Given the description of an element on the screen output the (x, y) to click on. 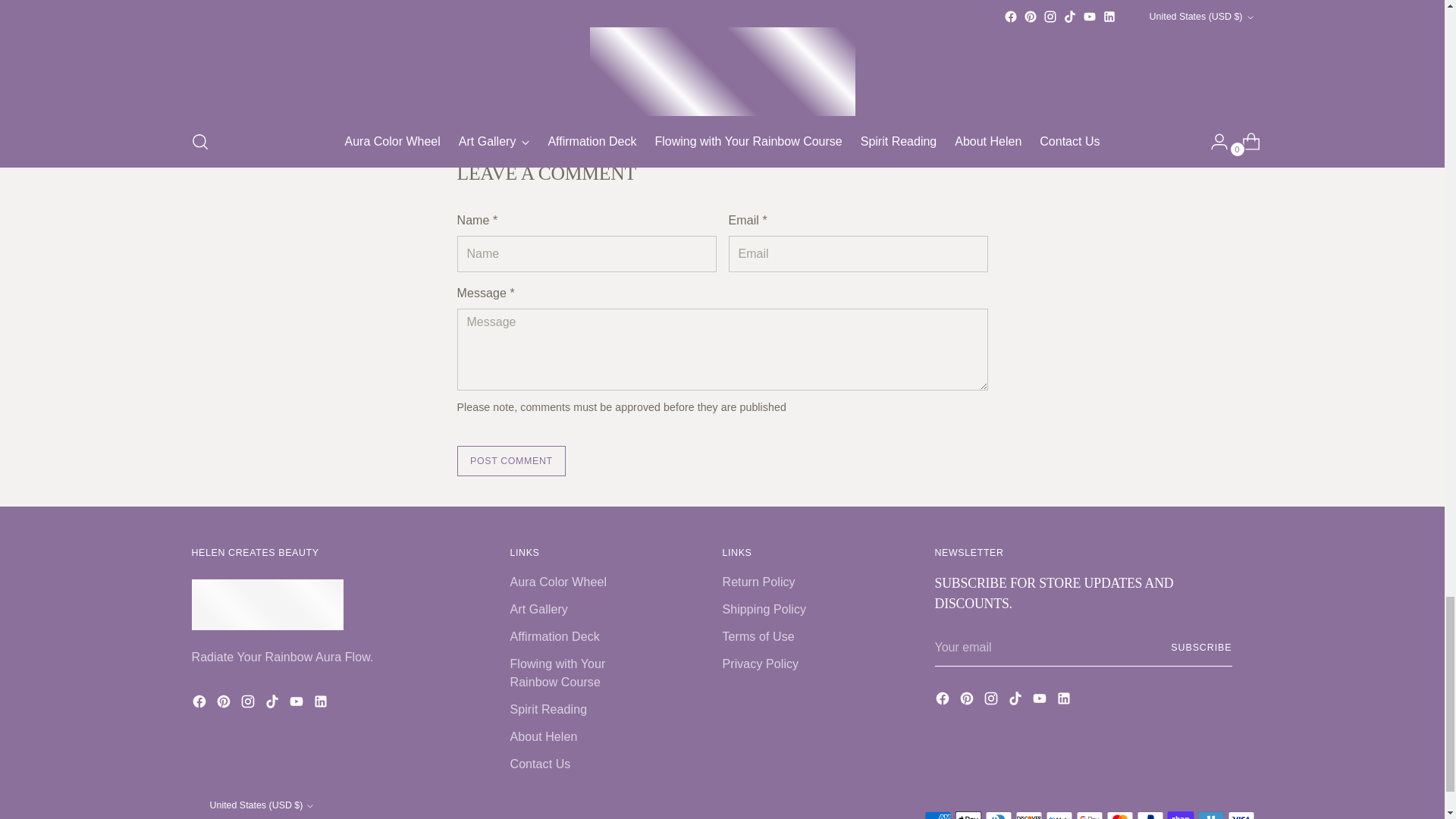
Helen Creates Beauty on Pinterest (223, 703)
Helen Creates Beauty on Pinterest (967, 701)
Helen Creates Beauty on Facebook (943, 701)
Helen Creates Beauty on Tiktok (272, 703)
Helen Creates Beauty on Instagram (991, 701)
Helen Creates Beauty on LinkedIn (321, 703)
